Given the description of an element on the screen output the (x, y) to click on. 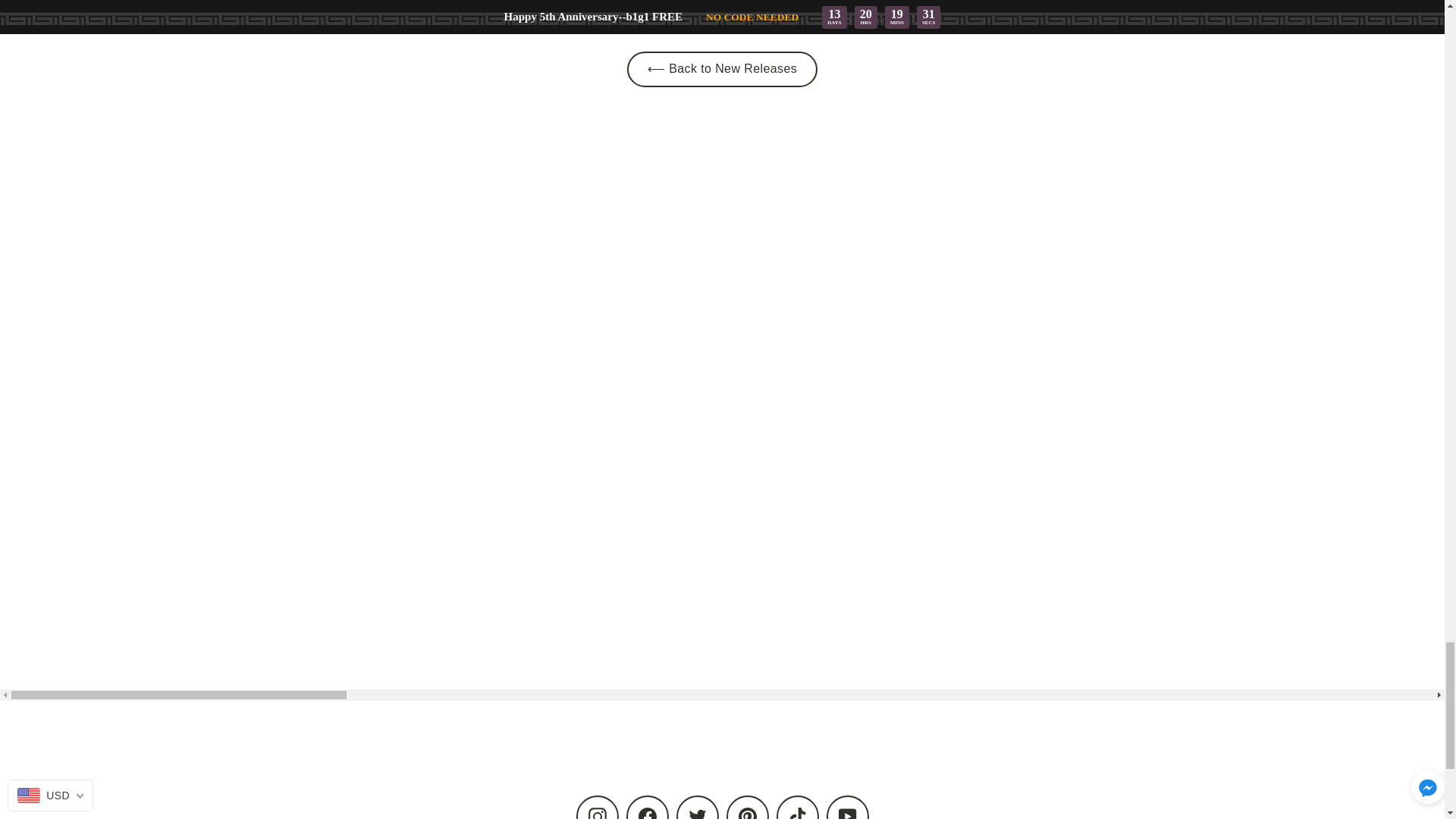
ICEGIANT on Facebook (647, 807)
ICEGIANT on YouTube (848, 807)
ICEGIANT on Instagram (597, 807)
ICEGIANT on Pinterest (747, 807)
ICEGIANT on TikTok (797, 807)
ICEGIANT on Twitter (698, 807)
